Given the description of an element on the screen output the (x, y) to click on. 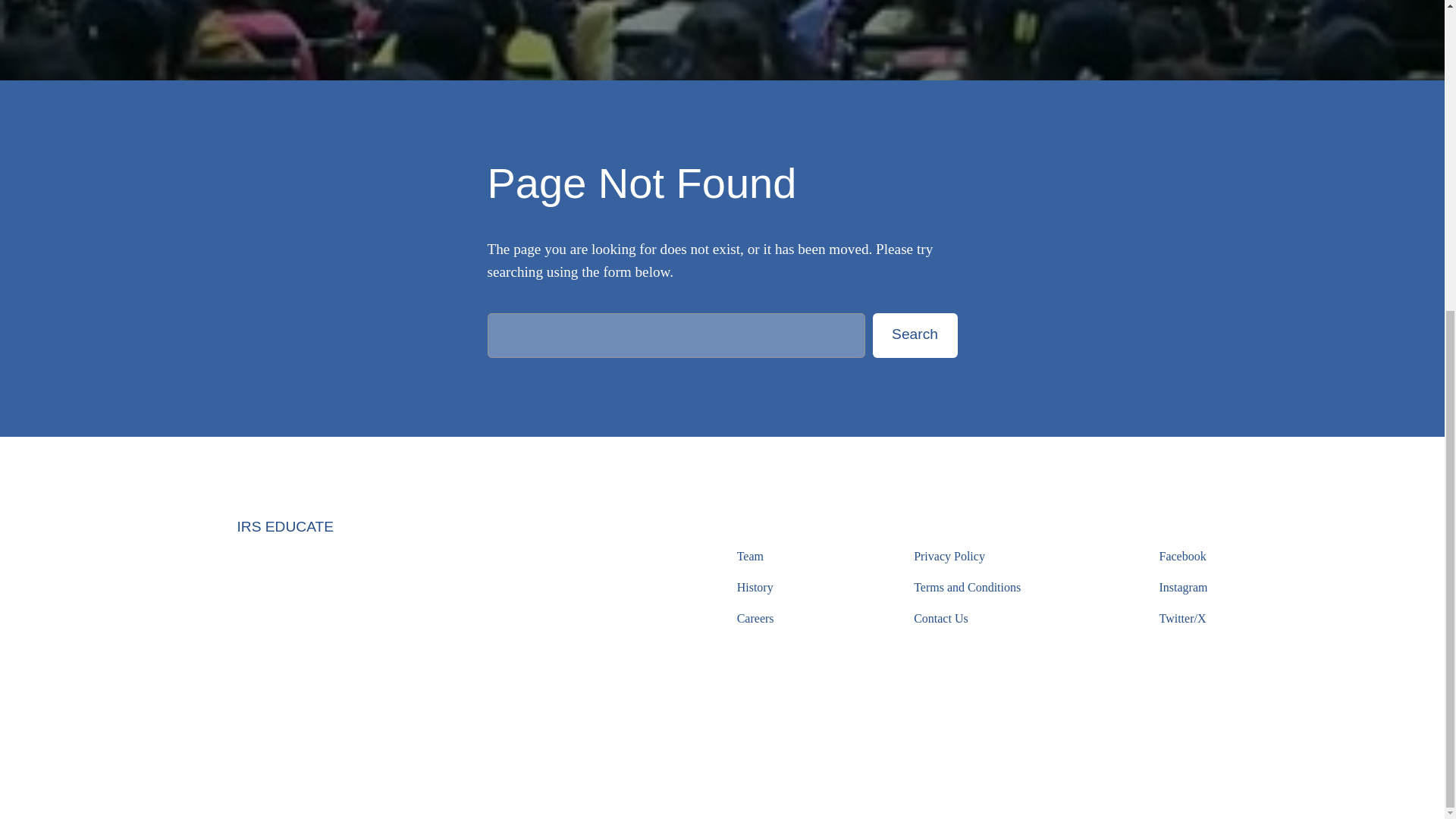
Search (915, 334)
Team (749, 556)
IRS EDUCATE (284, 526)
Instagram (1182, 587)
Contact Us (941, 618)
Careers (755, 618)
Facebook (1181, 556)
Privacy Policy (949, 556)
Terms and Conditions (967, 587)
History (754, 587)
